Given the description of an element on the screen output the (x, y) to click on. 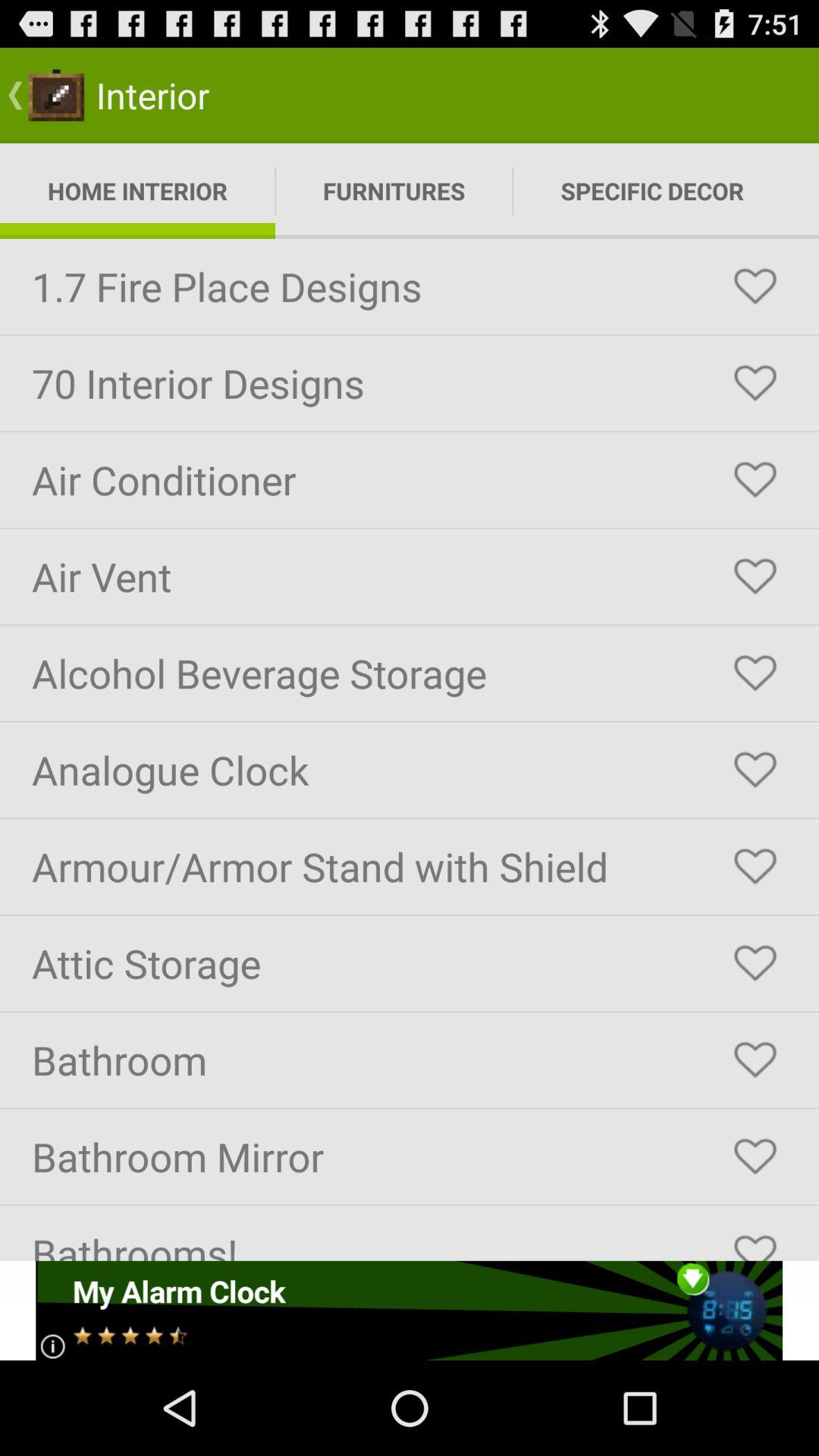
add to favorites (755, 383)
